Given the description of an element on the screen output the (x, y) to click on. 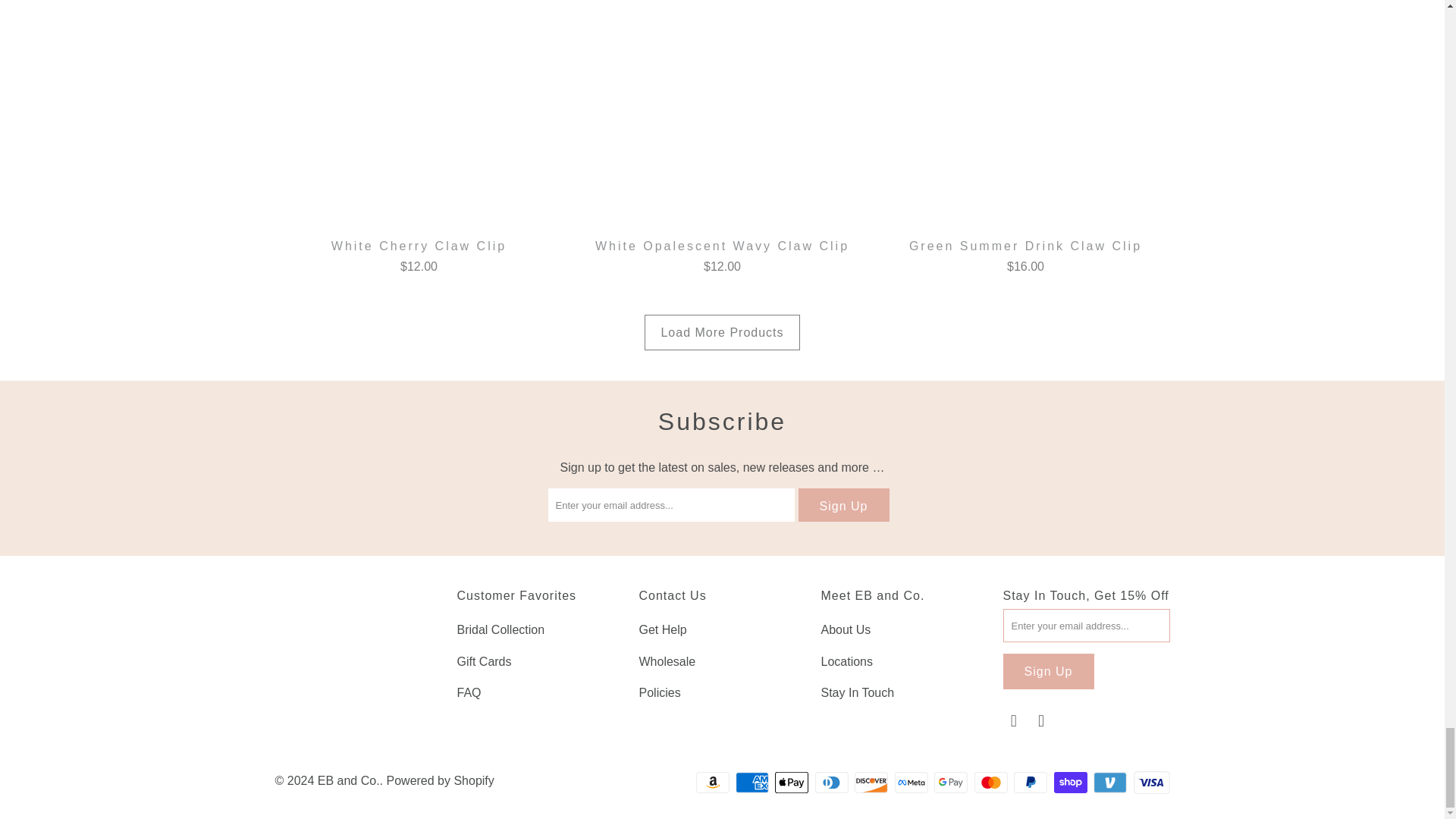
Google Pay (952, 782)
American Express (753, 782)
Sign Up (842, 504)
Sign Up (1048, 671)
EB and Co. on Instagram (1041, 720)
EB and Co. on Facebook (1014, 720)
Amazon (713, 782)
Apple Pay (792, 782)
Mastercard (992, 782)
Discover (872, 782)
Visa (1150, 782)
Diners Club (833, 782)
Venmo (1111, 782)
Meta Pay (913, 782)
PayPal (1031, 782)
